Given the description of an element on the screen output the (x, y) to click on. 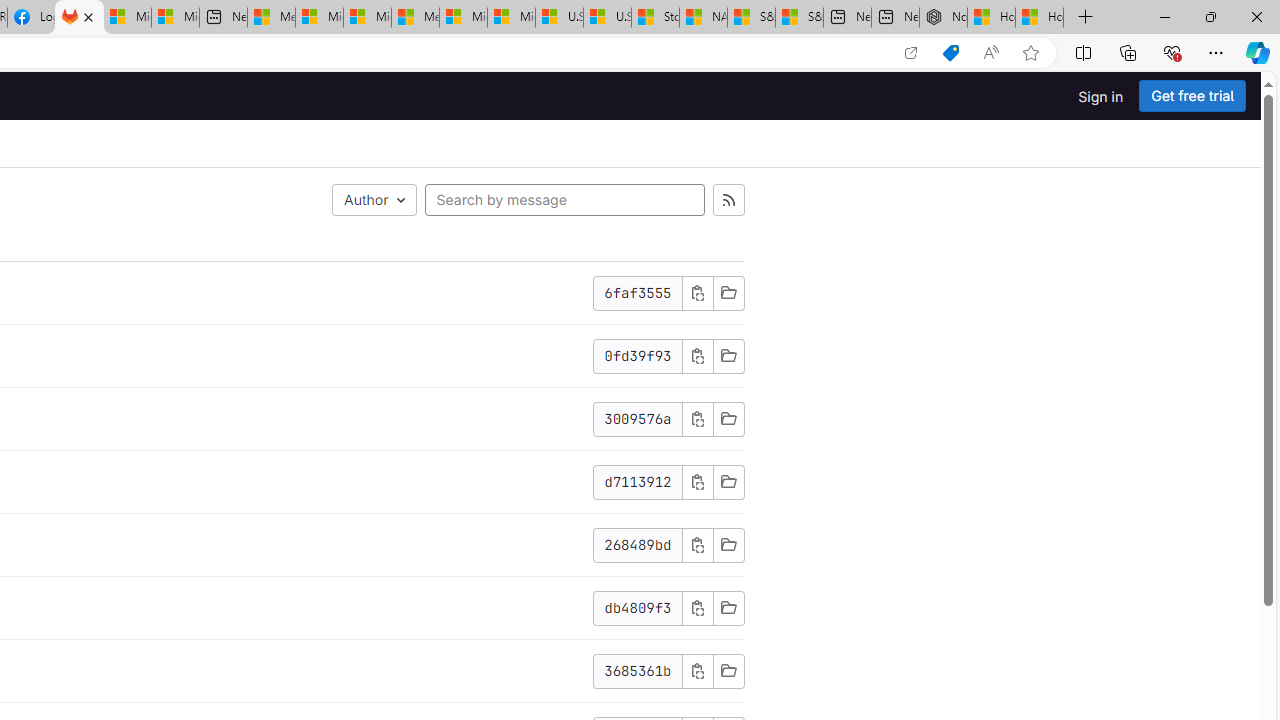
Copy commit SHA (697, 671)
